Given the description of an element on the screen output the (x, y) to click on. 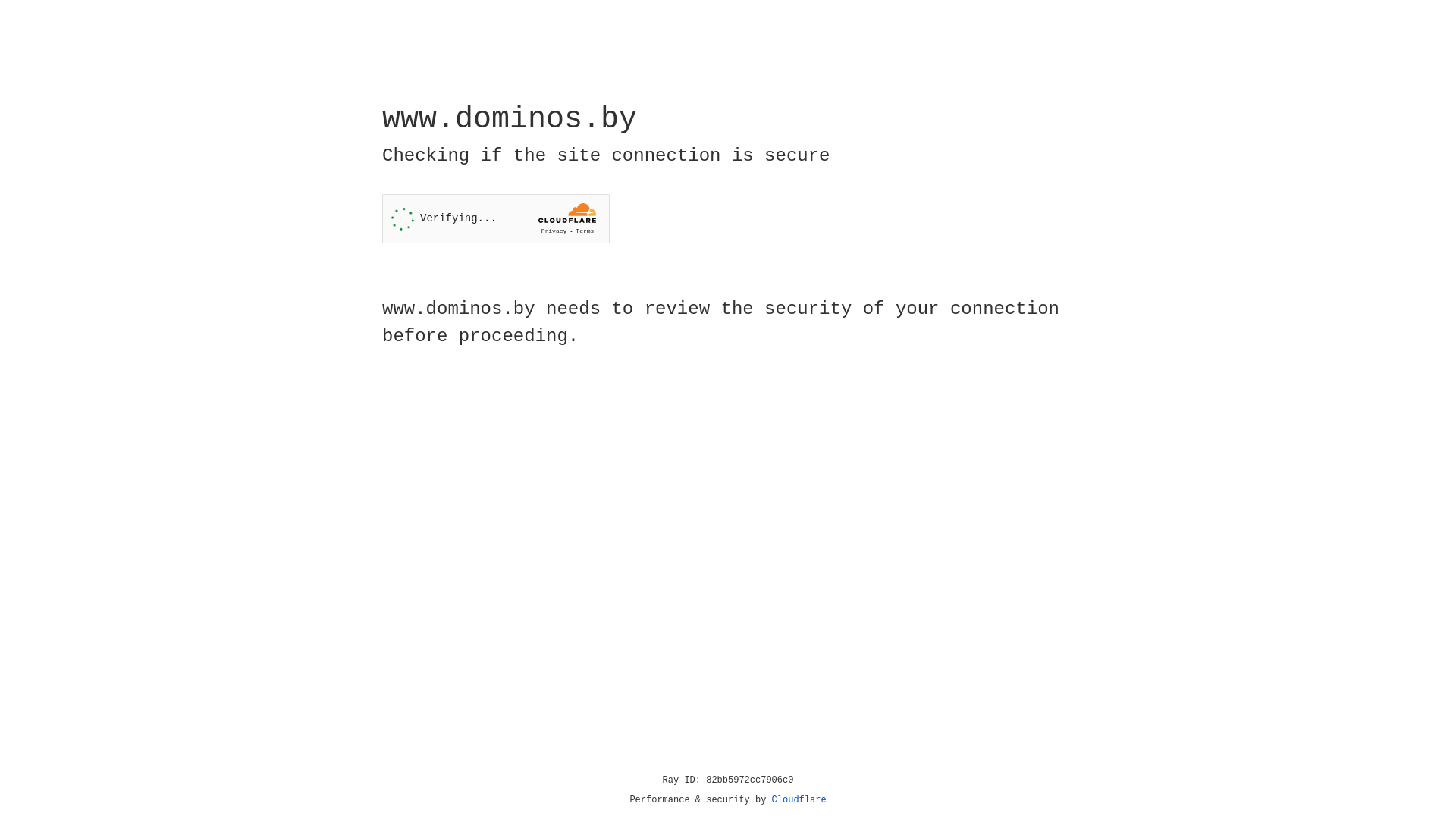
Widget containing a Cloudflare security challenge Element type: hover (495, 218)
Cloudflare Element type: text (798, 799)
